Given the description of an element on the screen output the (x, y) to click on. 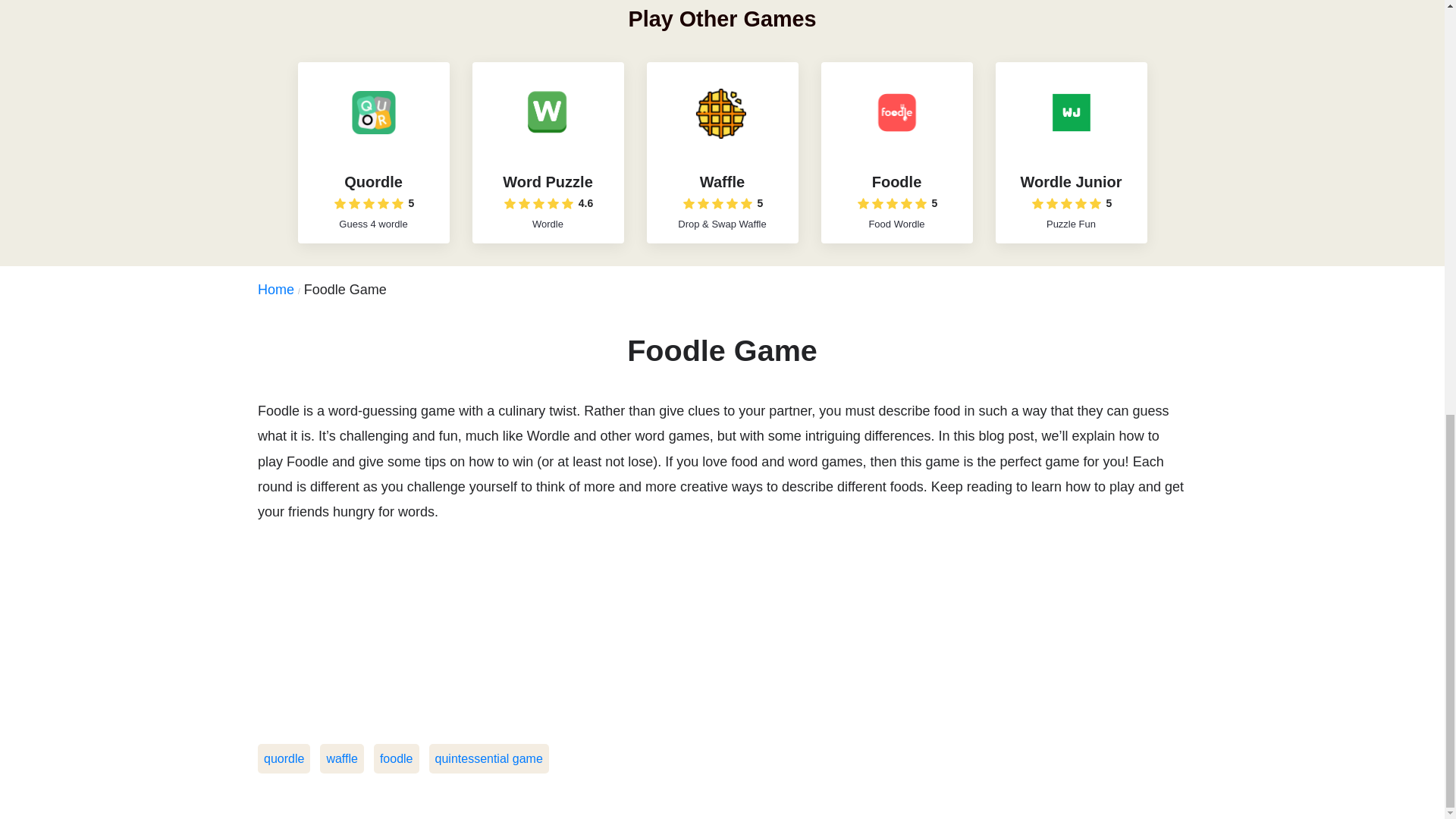
quordle (283, 758)
foodle (396, 758)
waffle (342, 758)
Home (280, 289)
quintessential game (488, 758)
